Given the description of an element on the screen output the (x, y) to click on. 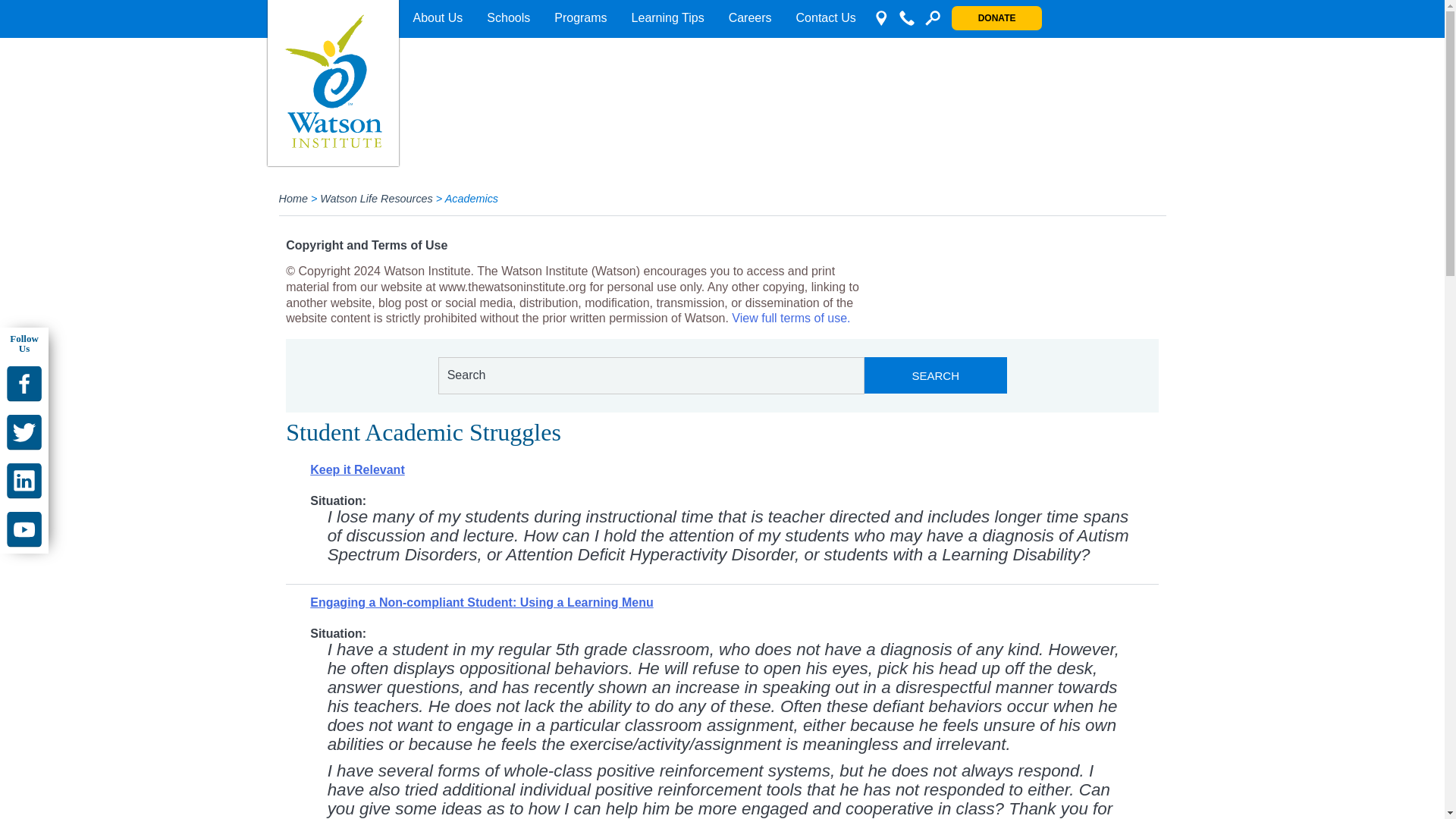
About Us (437, 18)
Programs (579, 18)
Search (935, 375)
Search (935, 375)
Permanent Link to Keep it Relevant (357, 469)
Schools (507, 18)
Learning Tips (668, 18)
Link to privacy policy (791, 318)
